Given the description of an element on the screen output the (x, y) to click on. 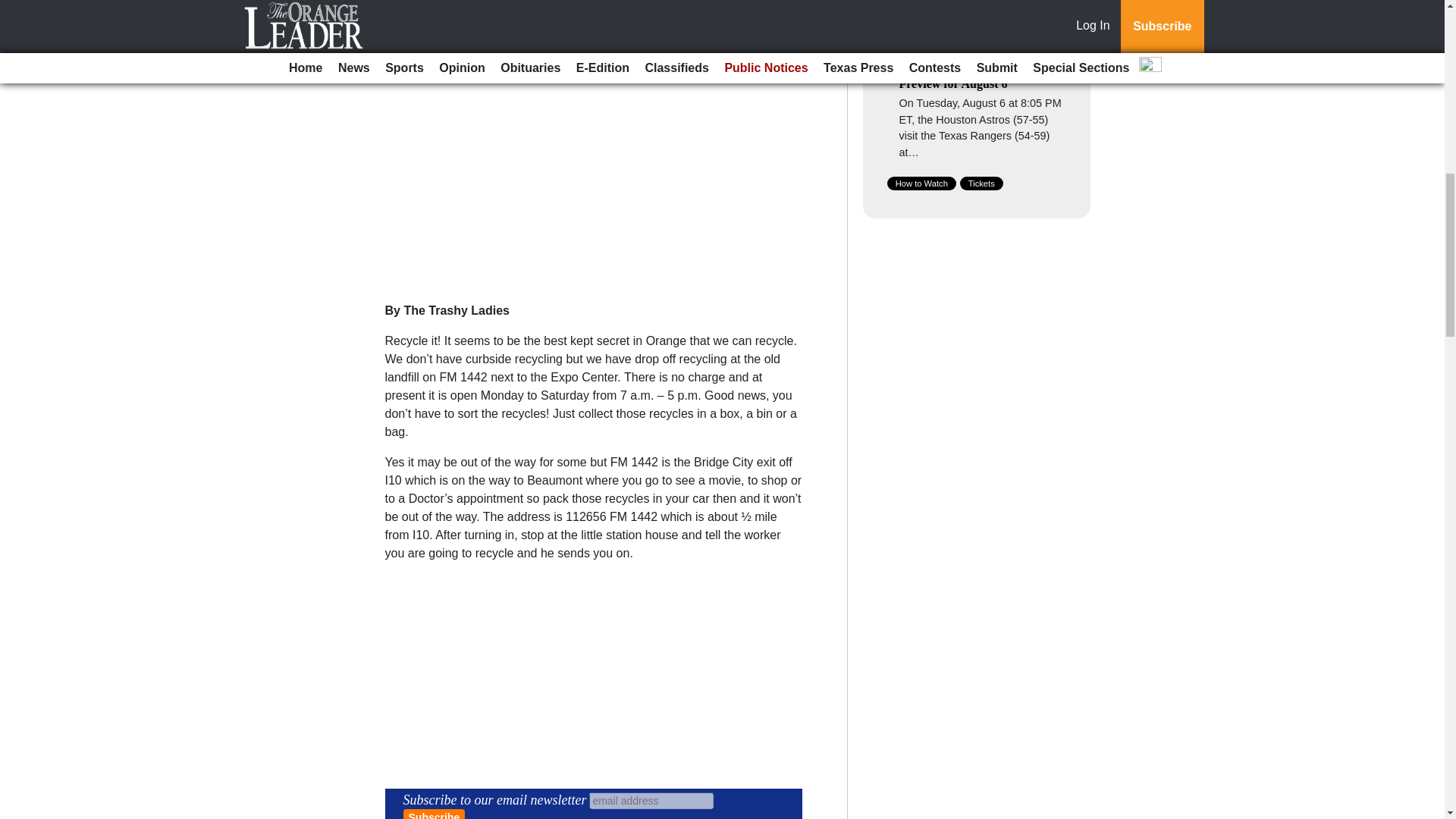
Subscribe (434, 814)
Astros vs. Rangers: Betting Preview for August 6 (970, 75)
Subscribe (434, 814)
